Given the description of an element on the screen output the (x, y) to click on. 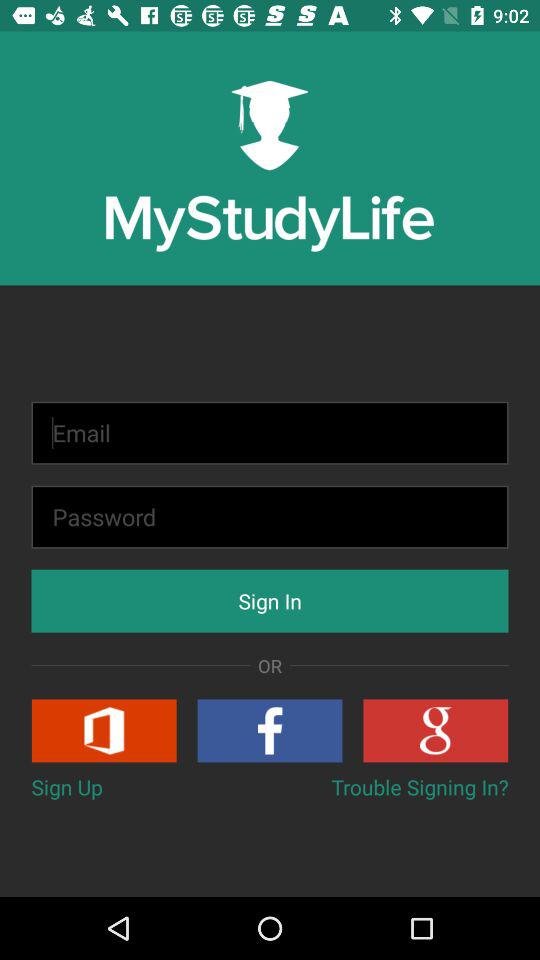
sign in with facebook (269, 730)
